Given the description of an element on the screen output the (x, y) to click on. 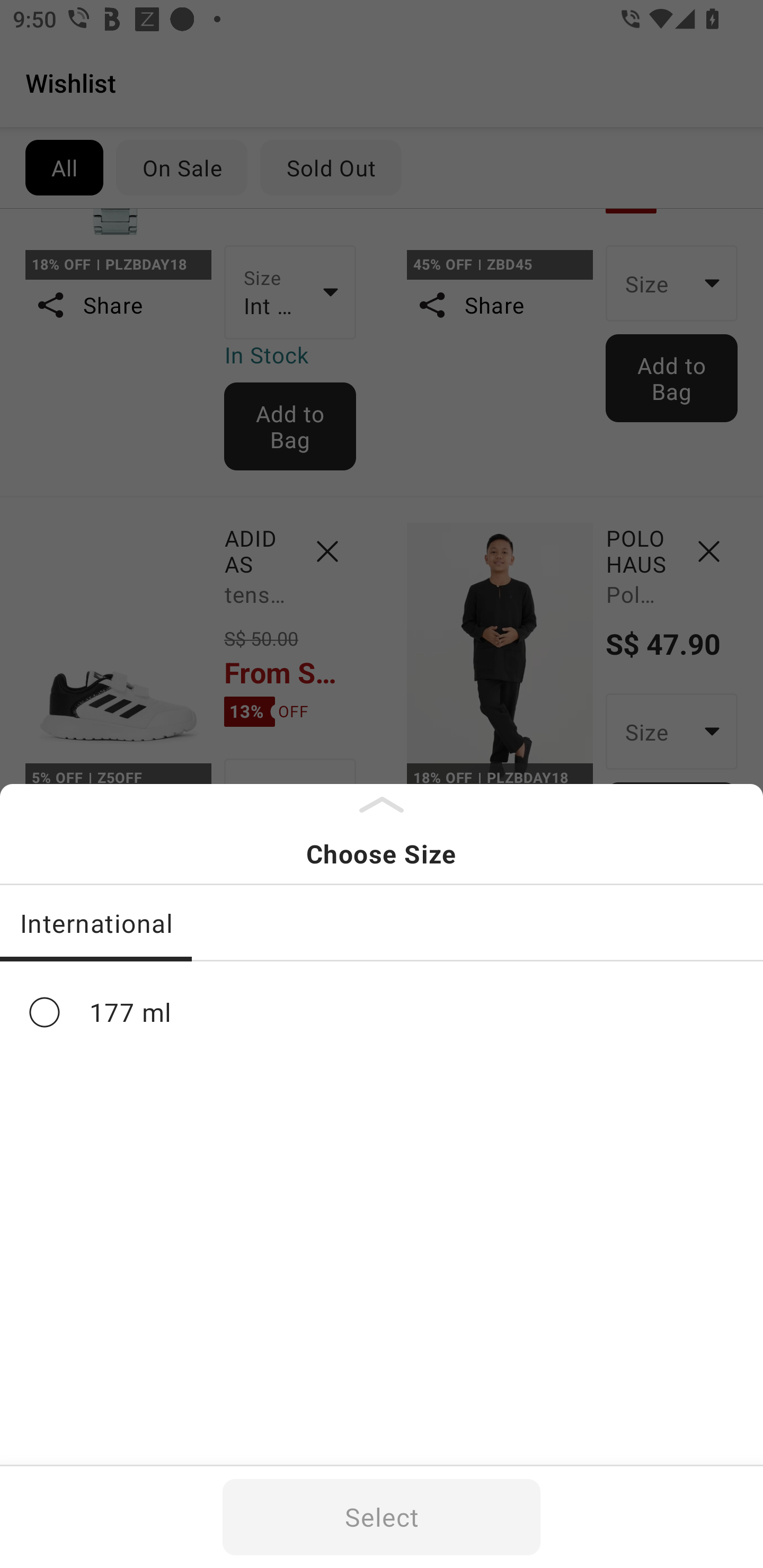
177 ml (381, 1011)
Select (381, 1516)
